Given the description of an element on the screen output the (x, y) to click on. 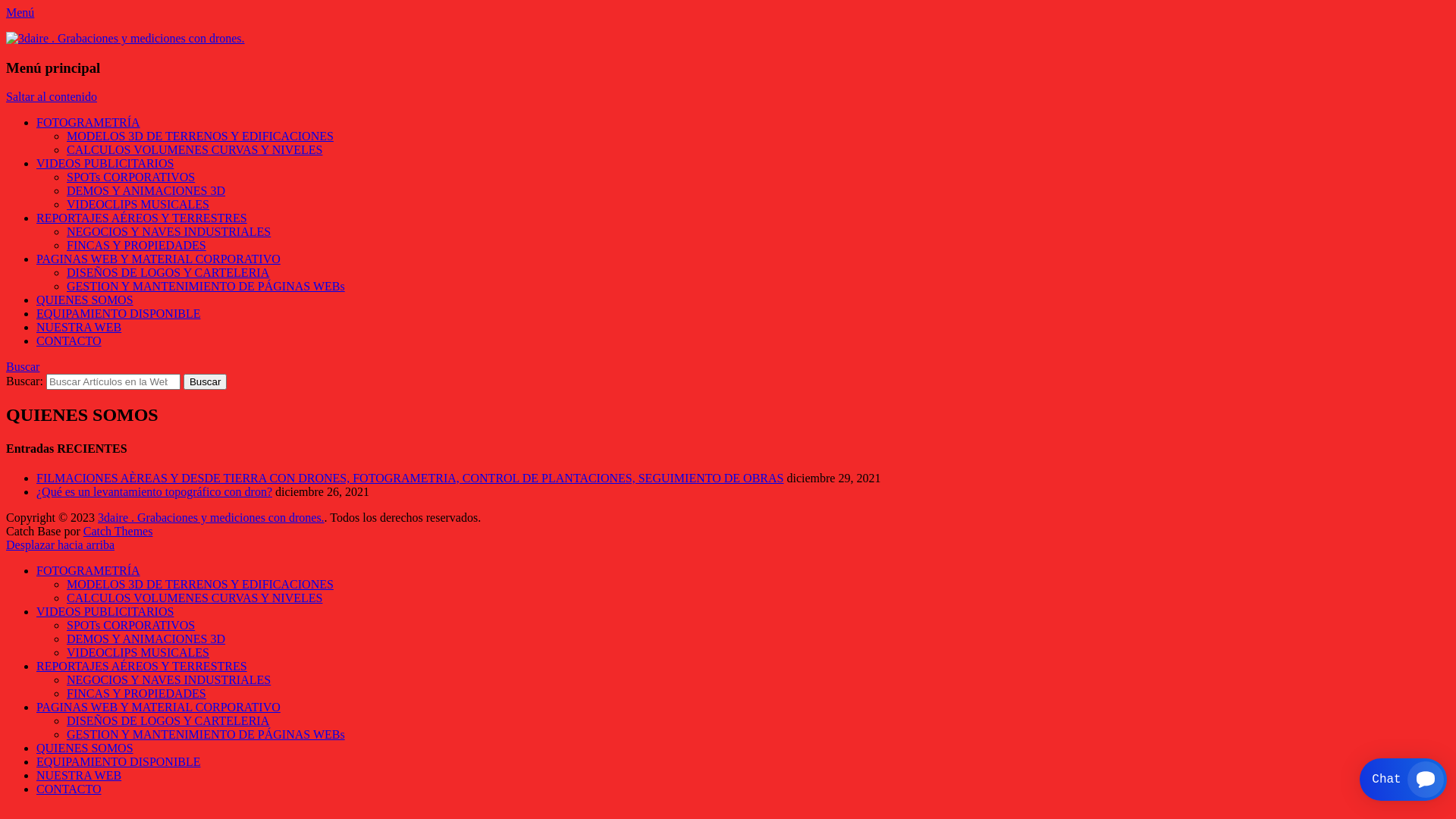
NUESTRA WEB Element type: text (78, 774)
CALCULOS VOLUMENES CURVAS Y NIVELES Element type: text (194, 149)
FINCAS Y PROPIEDADES Element type: text (136, 244)
CONTACTO Element type: text (68, 788)
NUESTRA WEB Element type: text (78, 326)
3daire . Grabaciones y mediciones con drones. Element type: text (210, 517)
VIDEOS PUBLICITARIOS Element type: text (104, 162)
NEGOCIOS Y NAVES INDUSTRIALES Element type: text (168, 679)
CONTACTO Element type: text (68, 340)
Buscar Element type: text (204, 381)
FINCAS Y PROPIEDADES Element type: text (136, 693)
VIDEOCLIPS MUSICALES Element type: text (137, 203)
VIDEOCLIPS MUSICALES Element type: text (137, 652)
QUIENES SOMOS Element type: text (84, 299)
MODELOS 3D DE TERRENOS Y EDIFICACIONES Element type: text (199, 583)
DEMOS Y ANIMACIONES 3D Element type: text (145, 638)
Catch Themes Element type: text (118, 530)
PAGINAS WEB Y MATERIAL CORPORATIVO Element type: text (158, 706)
CALCULOS VOLUMENES CURVAS Y NIVELES Element type: text (194, 597)
MODELOS 3D DE TERRENOS Y EDIFICACIONES Element type: text (199, 135)
EQUIPAMIENTO DISPONIBLE Element type: text (118, 761)
EQUIPAMIENTO DISPONIBLE Element type: text (118, 313)
VIDEOS PUBLICITARIOS Element type: text (104, 611)
3daire . Grabaciones y mediciones con drones. Element type: text (119, 38)
Buscar Element type: text (22, 366)
Desplazar hacia arriba Element type: text (60, 544)
SPOTs CORPORATIVOS Element type: text (130, 624)
DEMOS Y ANIMACIONES 3D Element type: text (145, 190)
QUIENES SOMOS Element type: text (84, 747)
Smartsupp widget button Element type: hover (1402, 779)
NEGOCIOS Y NAVES INDUSTRIALES Element type: text (168, 231)
Saltar al contenido Element type: text (51, 96)
SPOTs CORPORATIVOS Element type: text (130, 176)
Buscar: Element type: hover (113, 381)
PAGINAS WEB Y MATERIAL CORPORATIVO Element type: text (158, 258)
